Given the description of an element on the screen output the (x, y) to click on. 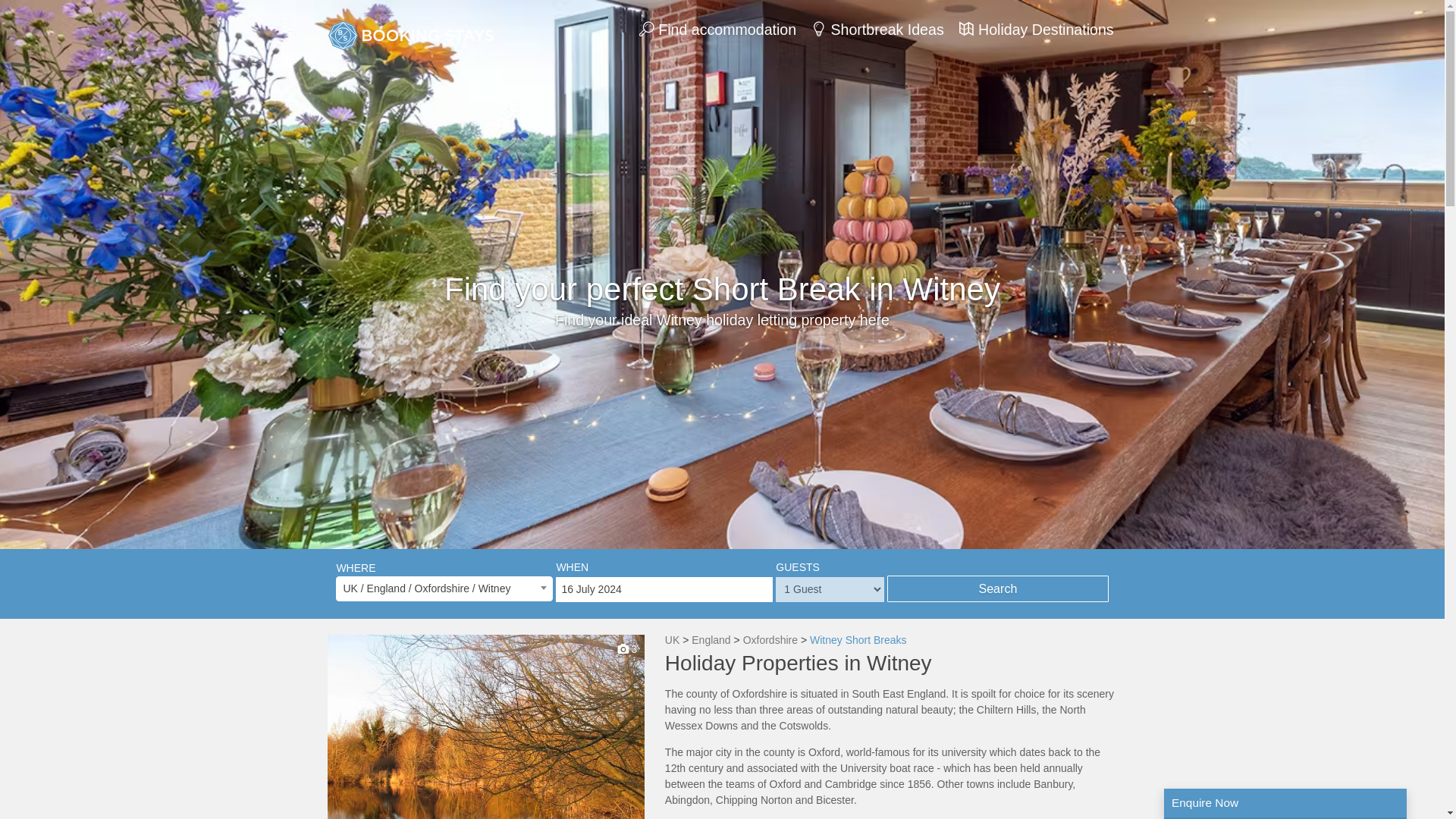
Witney Short Breaks (858, 639)
 -  (486, 726)
16 July 2024 (664, 589)
Oxfordshire (769, 639)
Explore properties in Witney (858, 639)
Search (997, 588)
Explore properties in England (710, 639)
Explore properties in UK (672, 639)
Shortbreak Ideas (876, 29)
Explore properties in Oxfordshire (769, 639)
Search (997, 588)
Holiday Destinations (1036, 29)
England (710, 639)
3 (486, 726)
UK (672, 639)
